Given the description of an element on the screen output the (x, y) to click on. 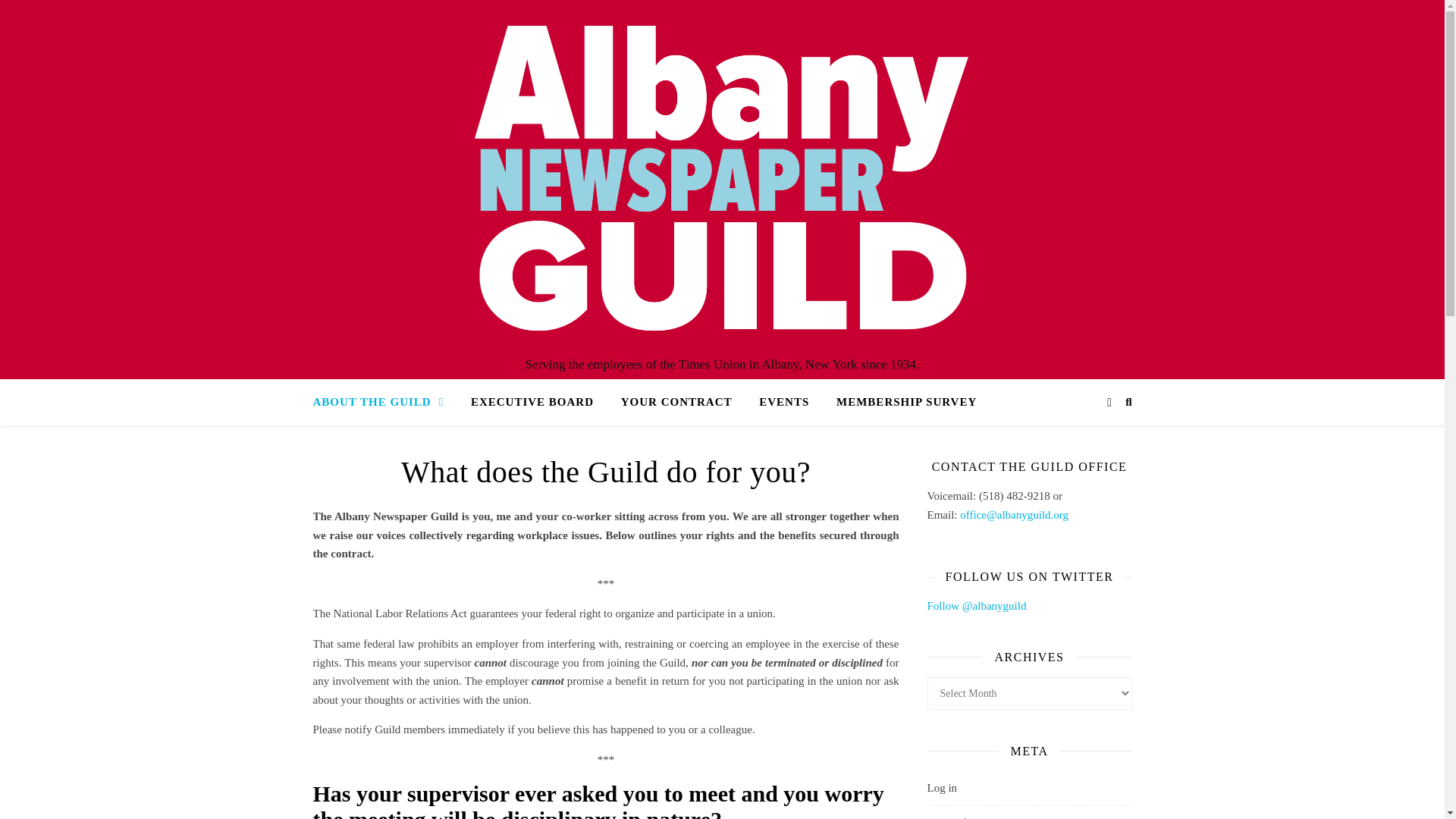
EXECUTIVE BOARD (531, 402)
Log in (941, 787)
ABOUT THE GUILD (384, 402)
MEMBERSHIP SURVEY (900, 402)
EVENTS (783, 402)
YOUR CONTRACT (676, 402)
Entries feed (953, 817)
